Given the description of an element on the screen output the (x, y) to click on. 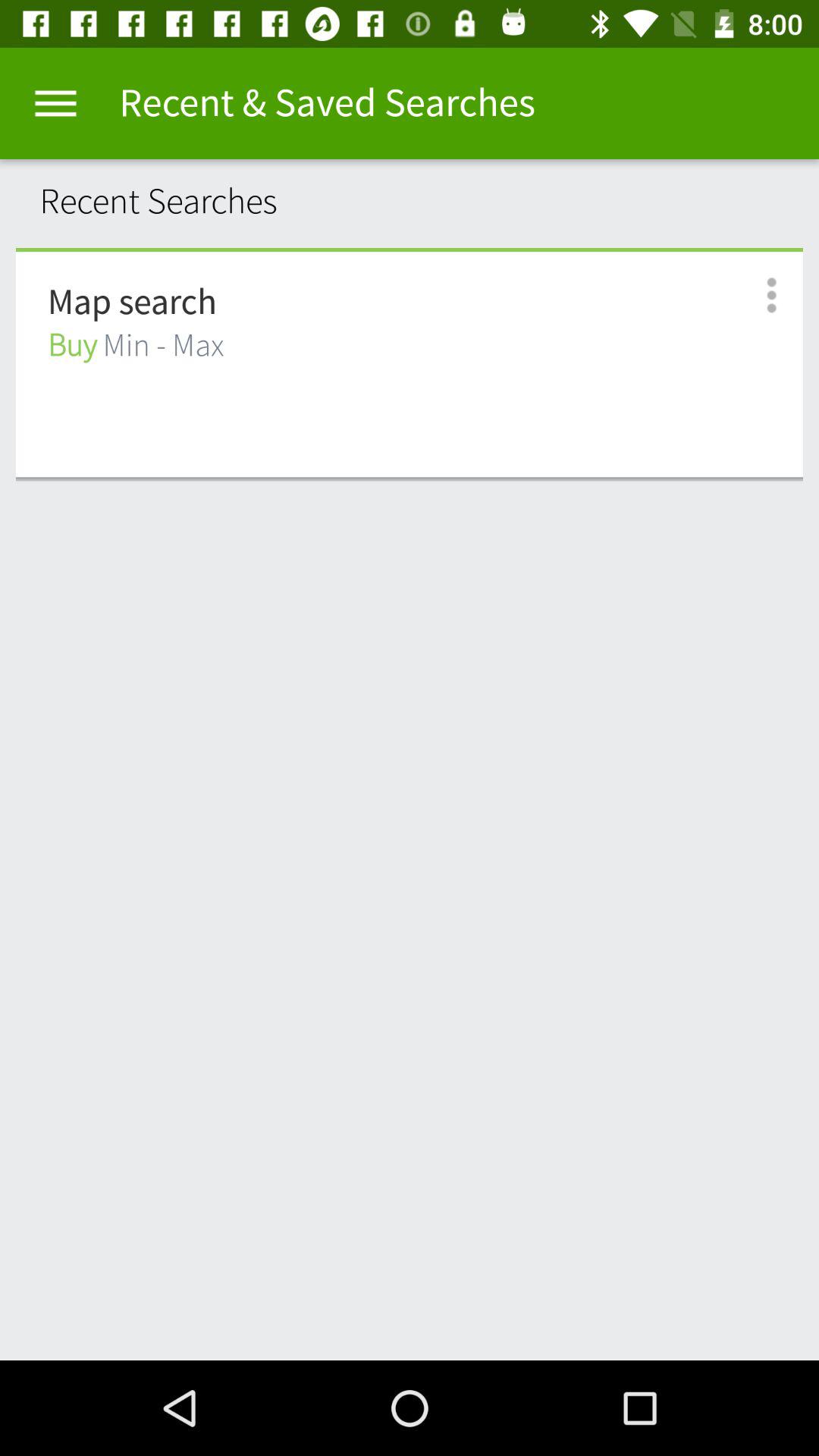
open options menu (755, 295)
